Given the description of an element on the screen output the (x, y) to click on. 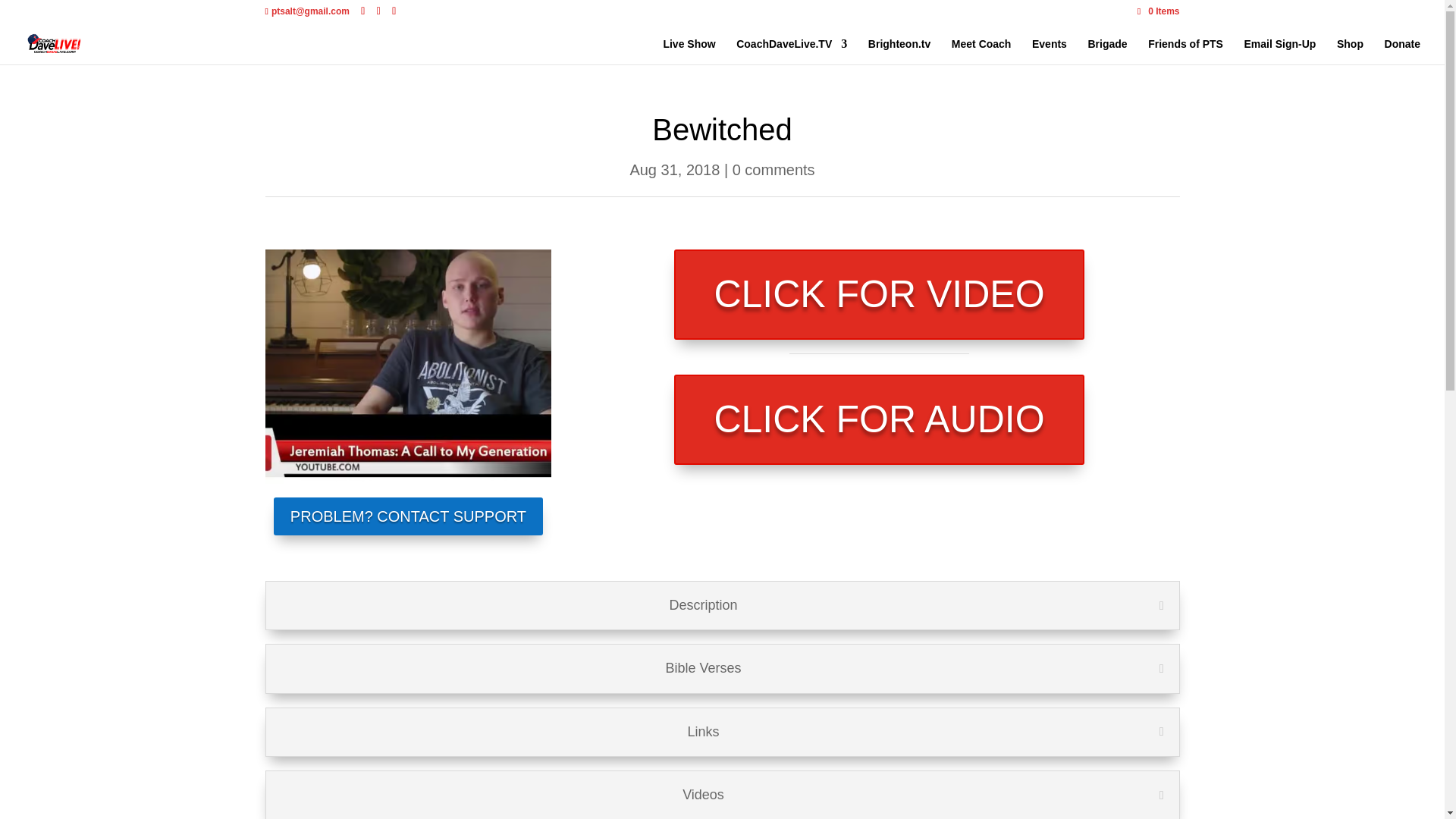
Events (1049, 51)
Meet Coach (981, 51)
0 Items (1158, 10)
0 comments (773, 169)
Donate (1402, 51)
Email Sign-Up (1280, 51)
CLICK FOR AUDIO (878, 419)
CLICK FOR VIDEO (878, 294)
CoachDaveLive.TV (791, 51)
Live Show (688, 51)
Shop (1349, 51)
Brigade (1106, 51)
Friends of PTS (1185, 51)
Brighteon.tv (898, 51)
PROBLEM? CONTACT SUPPORT (408, 516)
